Given the description of an element on the screen output the (x, y) to click on. 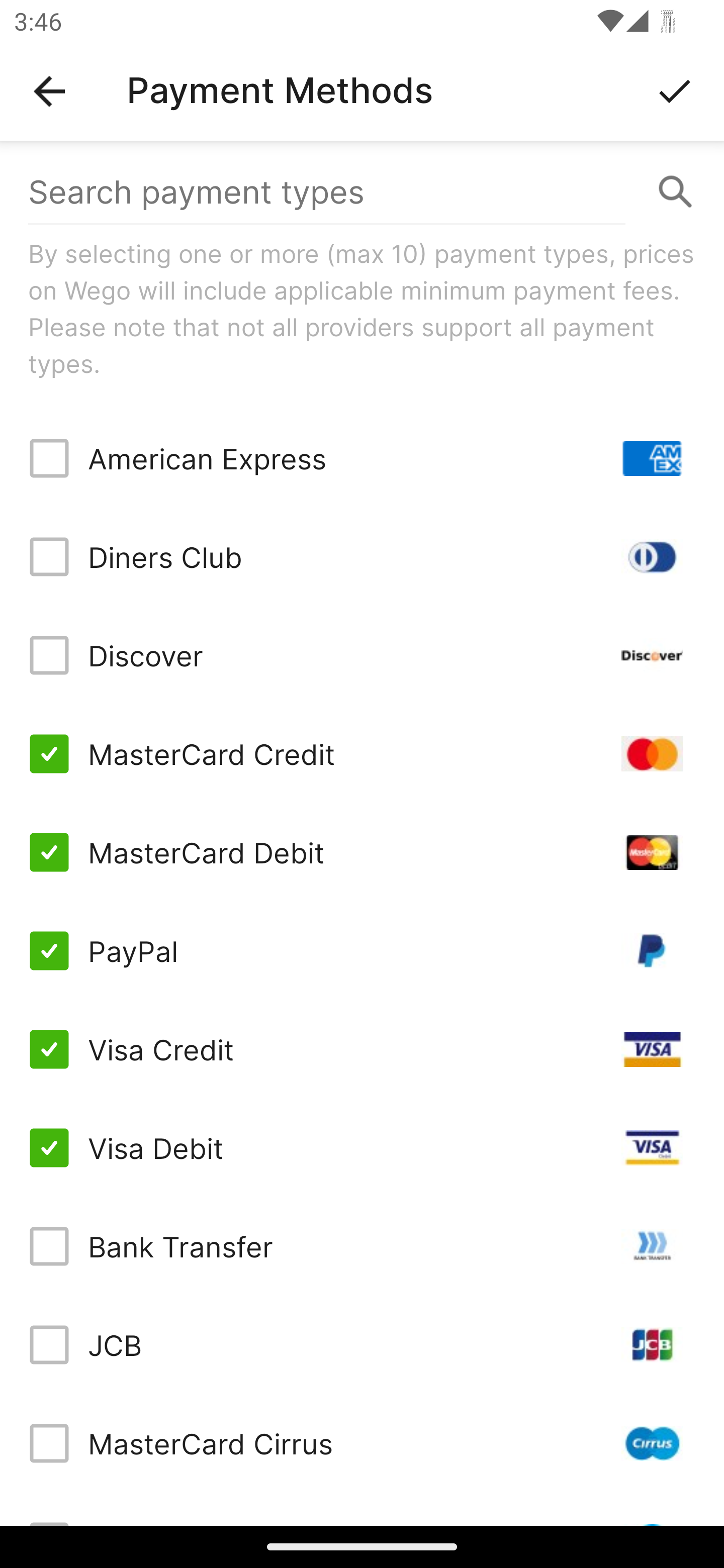
Search payment types  (361, 191)
American Express (362, 458)
Diners Club (362, 557)
Discover (362, 655)
MasterCard Credit (362, 753)
MasterCard Debit (362, 851)
PayPal (362, 950)
Visa Credit (362, 1049)
Visa Debit (362, 1147)
Bank Transfer (362, 1245)
JCB (362, 1344)
MasterCard Cirrus (362, 1442)
